Given the description of an element on the screen output the (x, y) to click on. 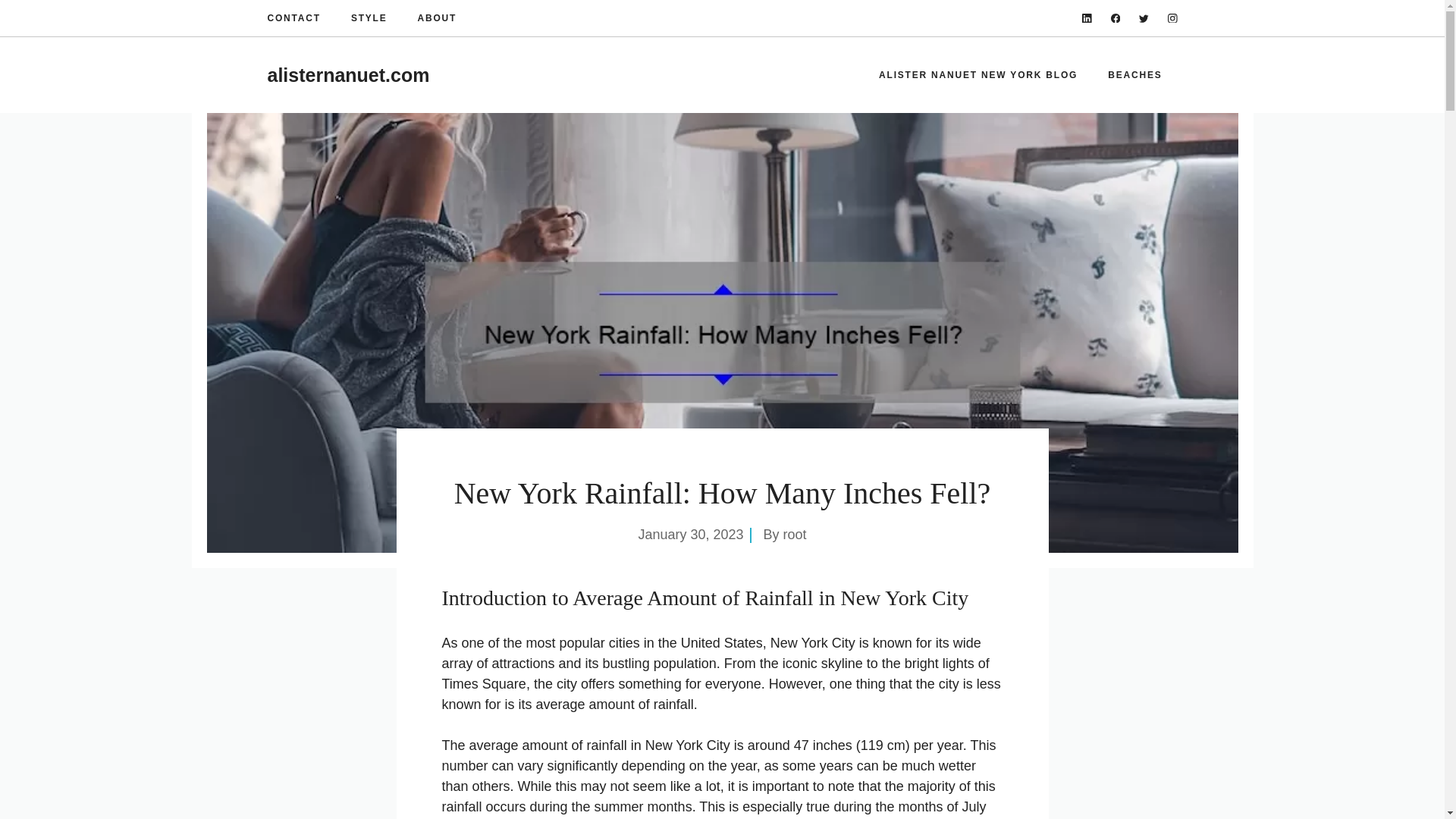
ABOUT (437, 18)
CONTACT (293, 18)
root (794, 534)
ALISTER NANUET NEW YORK BLOG (978, 74)
BEACHES (1134, 74)
alisternanuet.com (347, 74)
STYLE (368, 18)
